Given the description of an element on the screen output the (x, y) to click on. 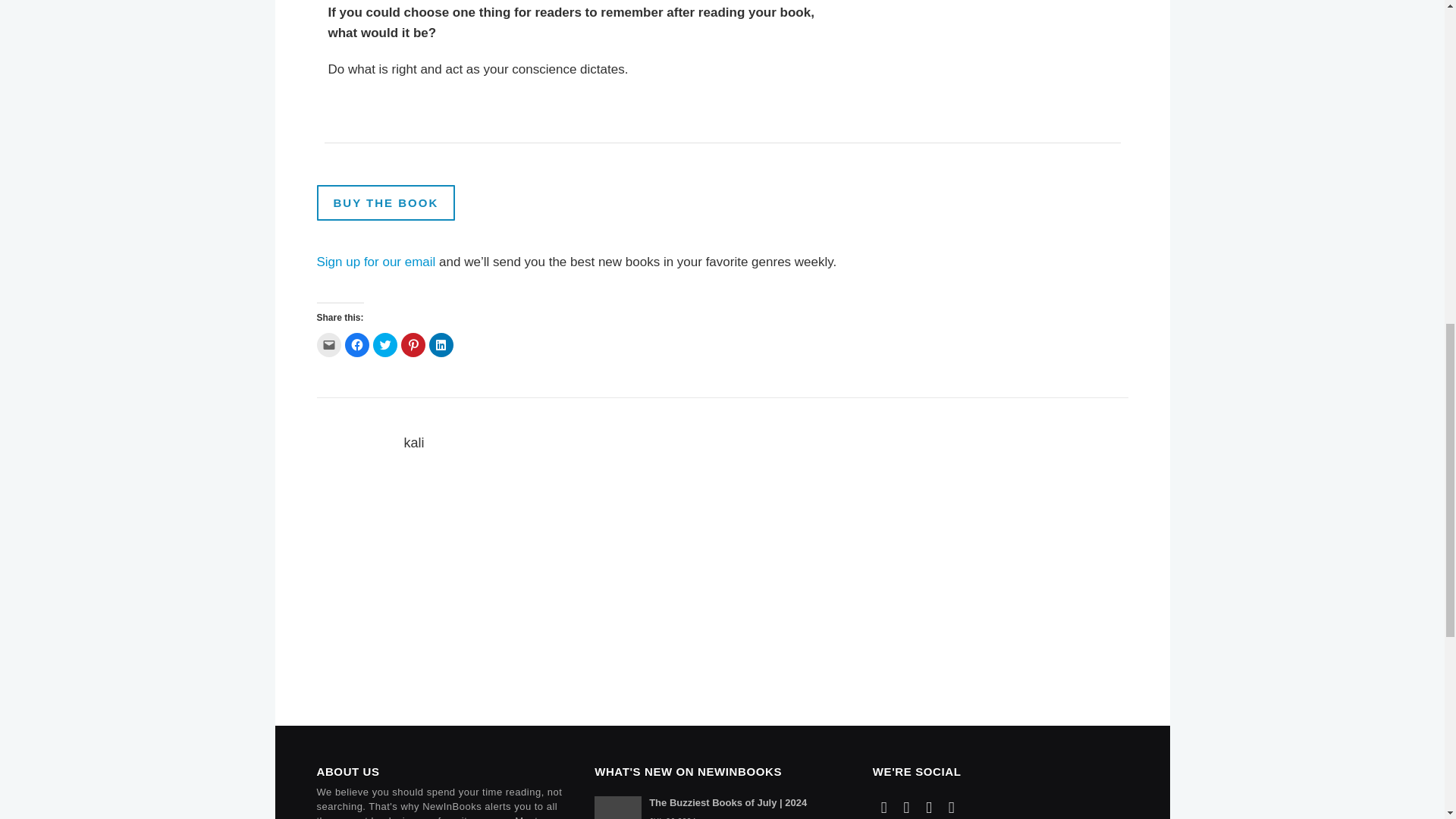
Click to email this to a friend (328, 344)
Click to share on Facebook (355, 344)
Click to share on Twitter (384, 344)
Click to share on Pinterest (412, 344)
Click to share on LinkedIn (440, 344)
